Given the description of an element on the screen output the (x, y) to click on. 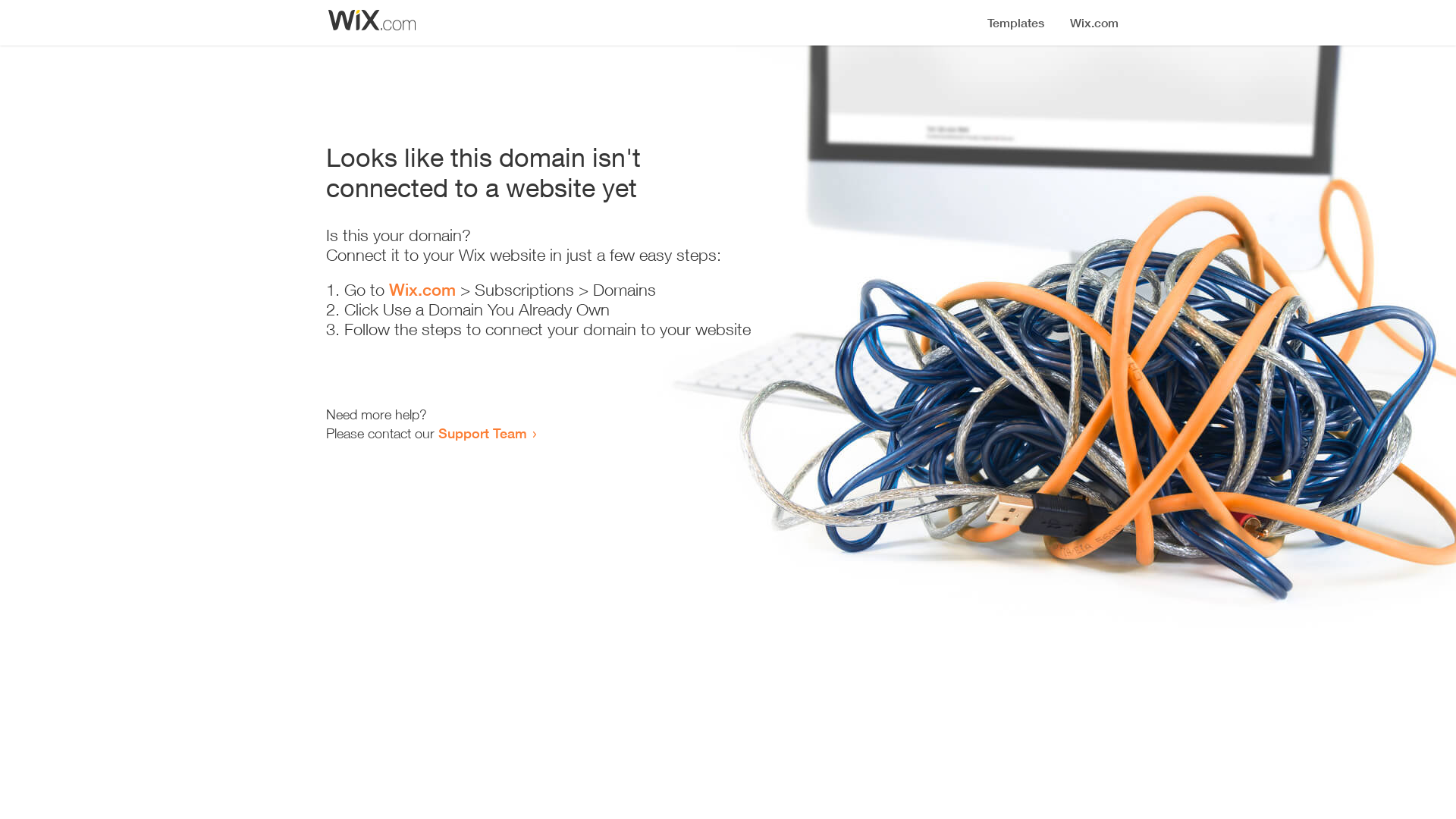
Wix.com Element type: text (422, 289)
Support Team Element type: text (482, 432)
